Given the description of an element on the screen output the (x, y) to click on. 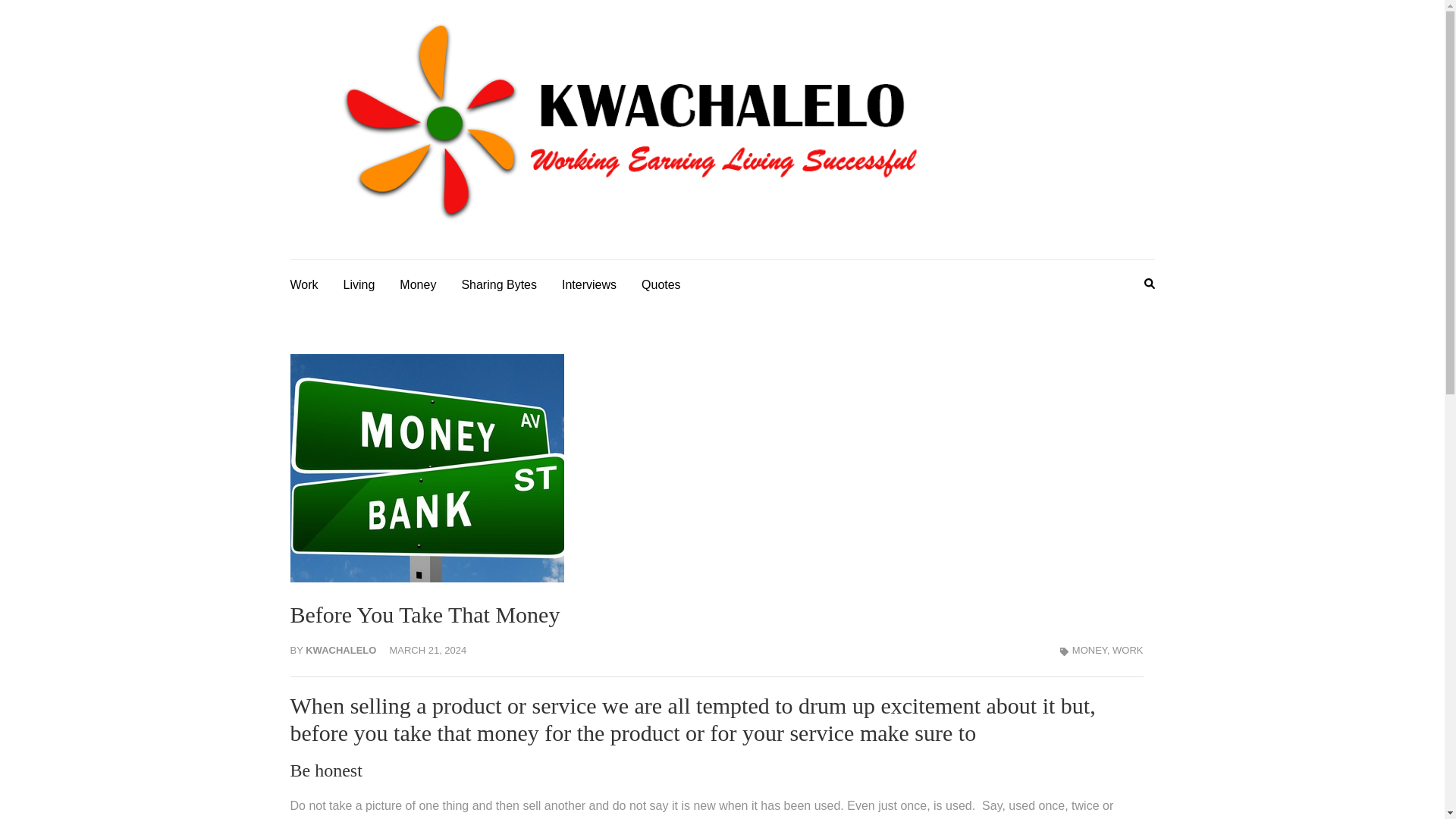
WORK (1127, 650)
KWACHALELO (1080, 145)
Interviews (588, 282)
MARCH 21, 2024 (426, 650)
Sharing Bytes (499, 282)
MONEY (1088, 650)
KWACHALELO (340, 650)
